Given the description of an element on the screen output the (x, y) to click on. 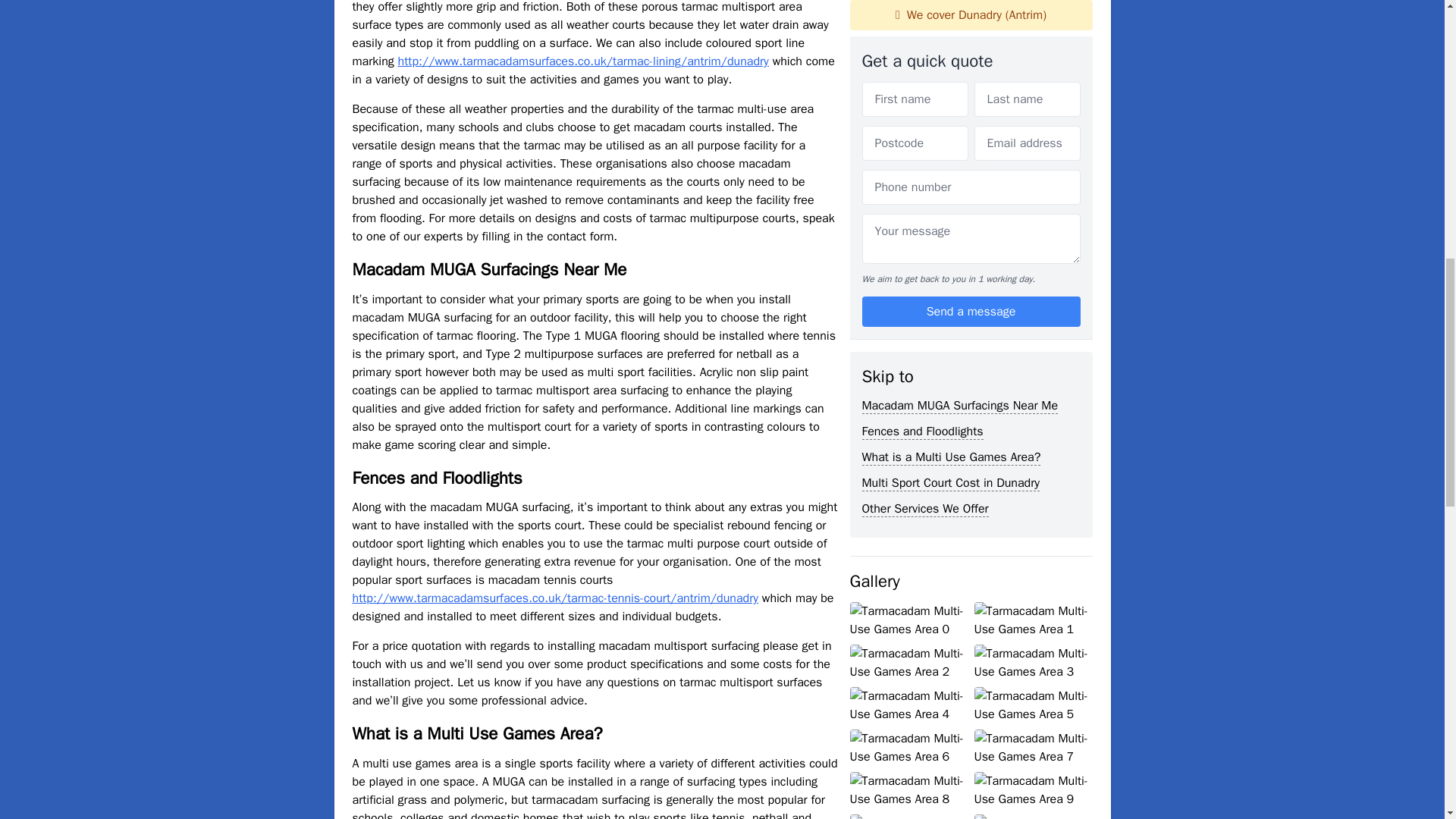
Multi Sport Court Cost in Dunadry (950, 53)
Multi Sport Court Cost in Dunadry (950, 53)
Other Services We Offer (924, 78)
What is a Multi Use Games Area? (951, 27)
Other Services We Offer (924, 78)
Fences and Floodlights (921, 4)
What is a Multi Use Games Area? (951, 27)
Fences and Floodlights (921, 4)
